Given the description of an element on the screen output the (x, y) to click on. 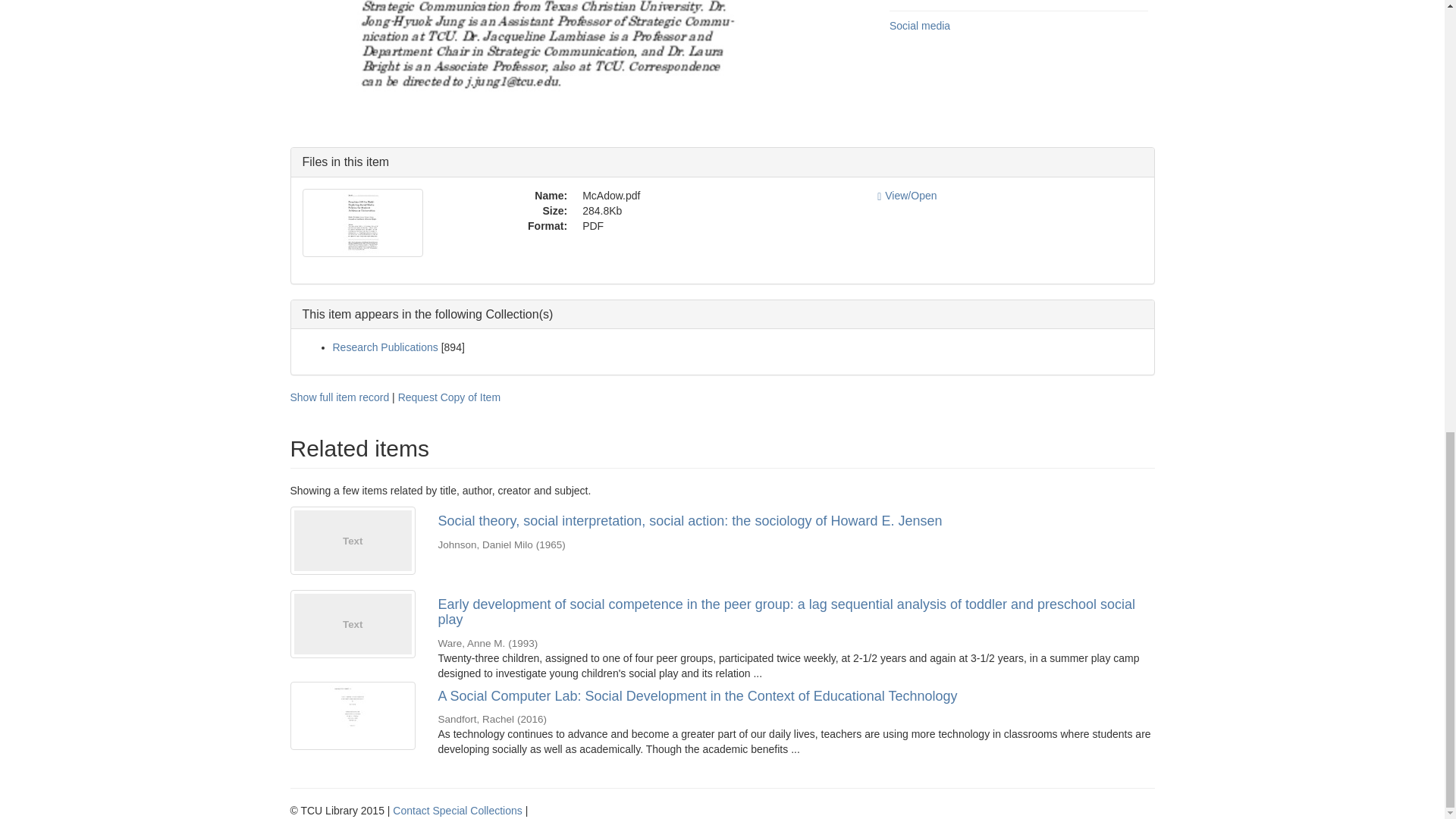
McAdow.pdf (718, 196)
